Given the description of an element on the screen output the (x, y) to click on. 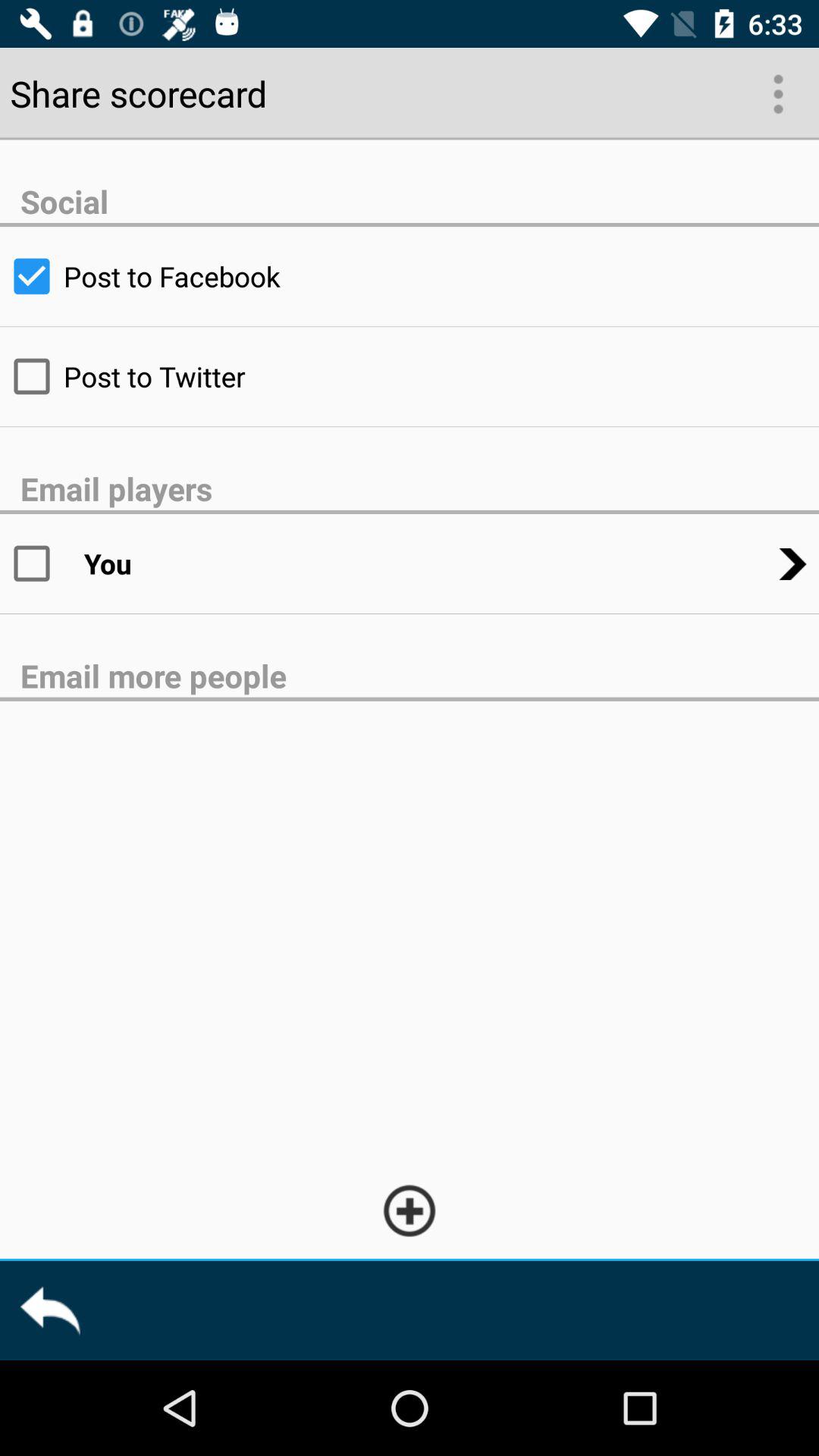
open icon to the left of the you icon (42, 563)
